Given the description of an element on the screen output the (x, y) to click on. 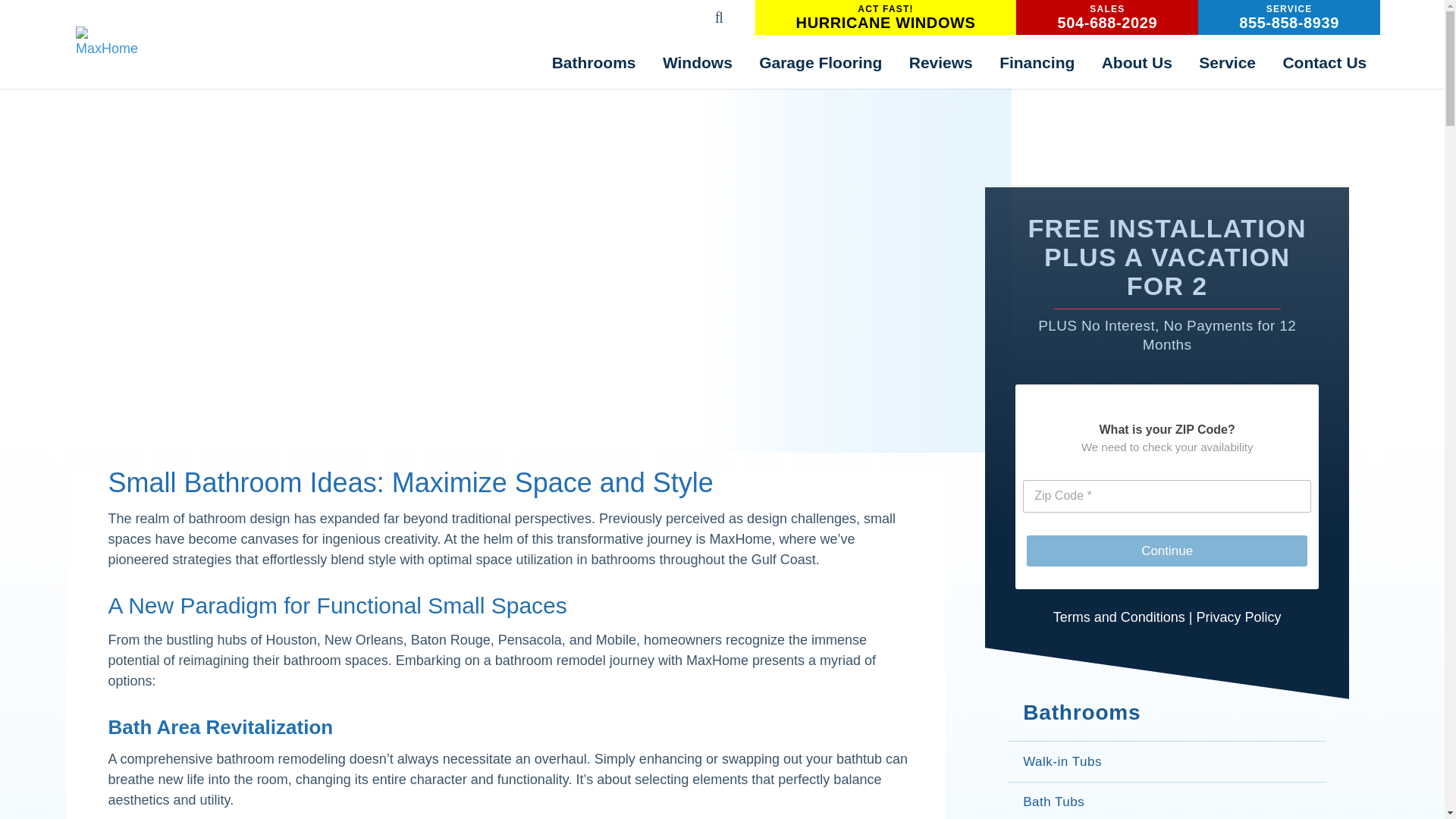
Search (1107, 17)
MaxHome (986, 9)
Bathrooms (1289, 17)
Windows (106, 43)
